Given the description of an element on the screen output the (x, y) to click on. 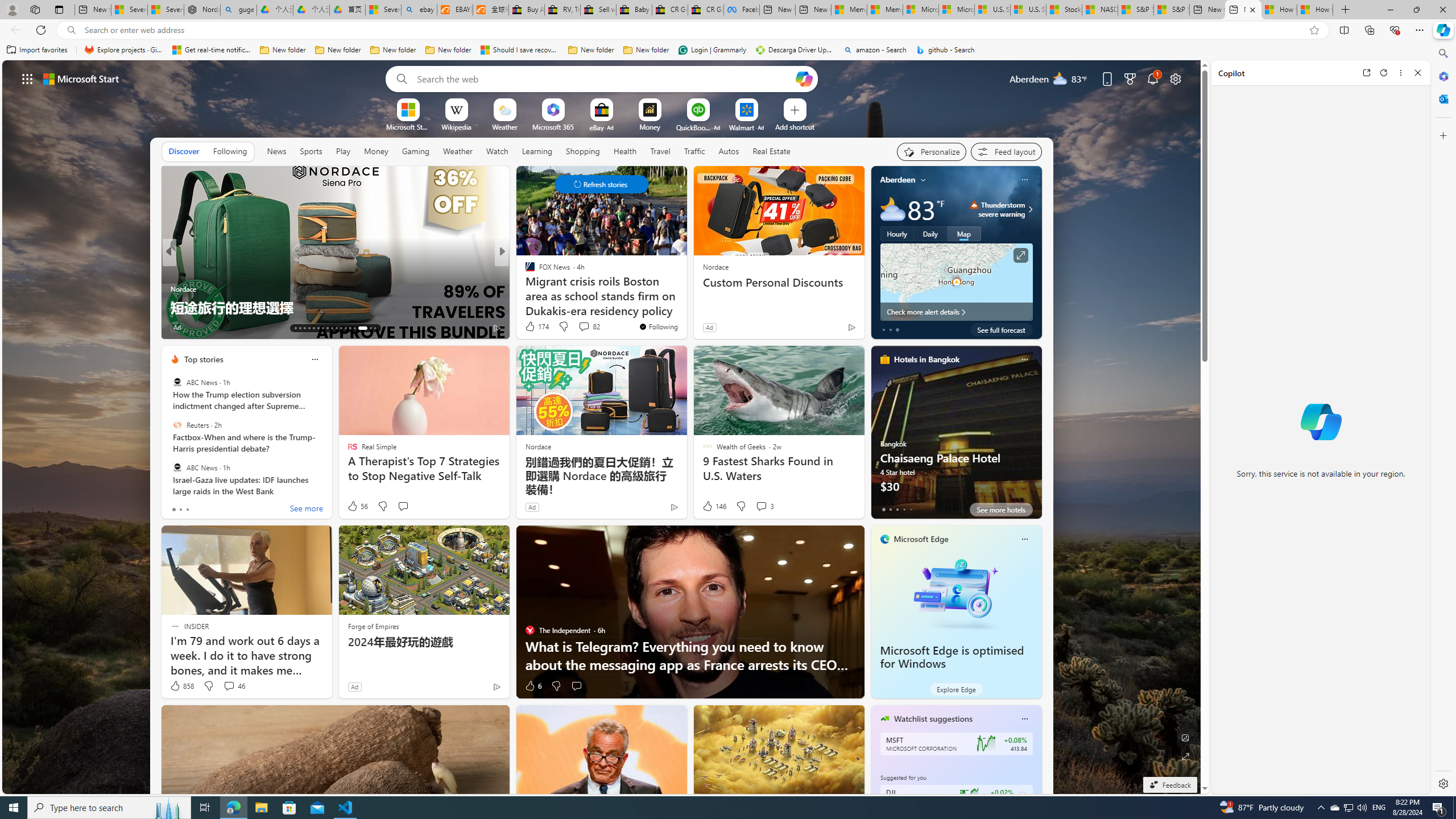
Class: icon-img (1024, 718)
See full forecast (1000, 329)
View comments 3 Comment (761, 505)
Chaisaeng Palace Hotel (956, 436)
Open link in new tab (1366, 72)
Mostly cloudy (892, 208)
22 Like (180, 327)
Expand background (1185, 756)
Health (624, 151)
Address and search bar (692, 29)
